Given the description of an element on the screen output the (x, y) to click on. 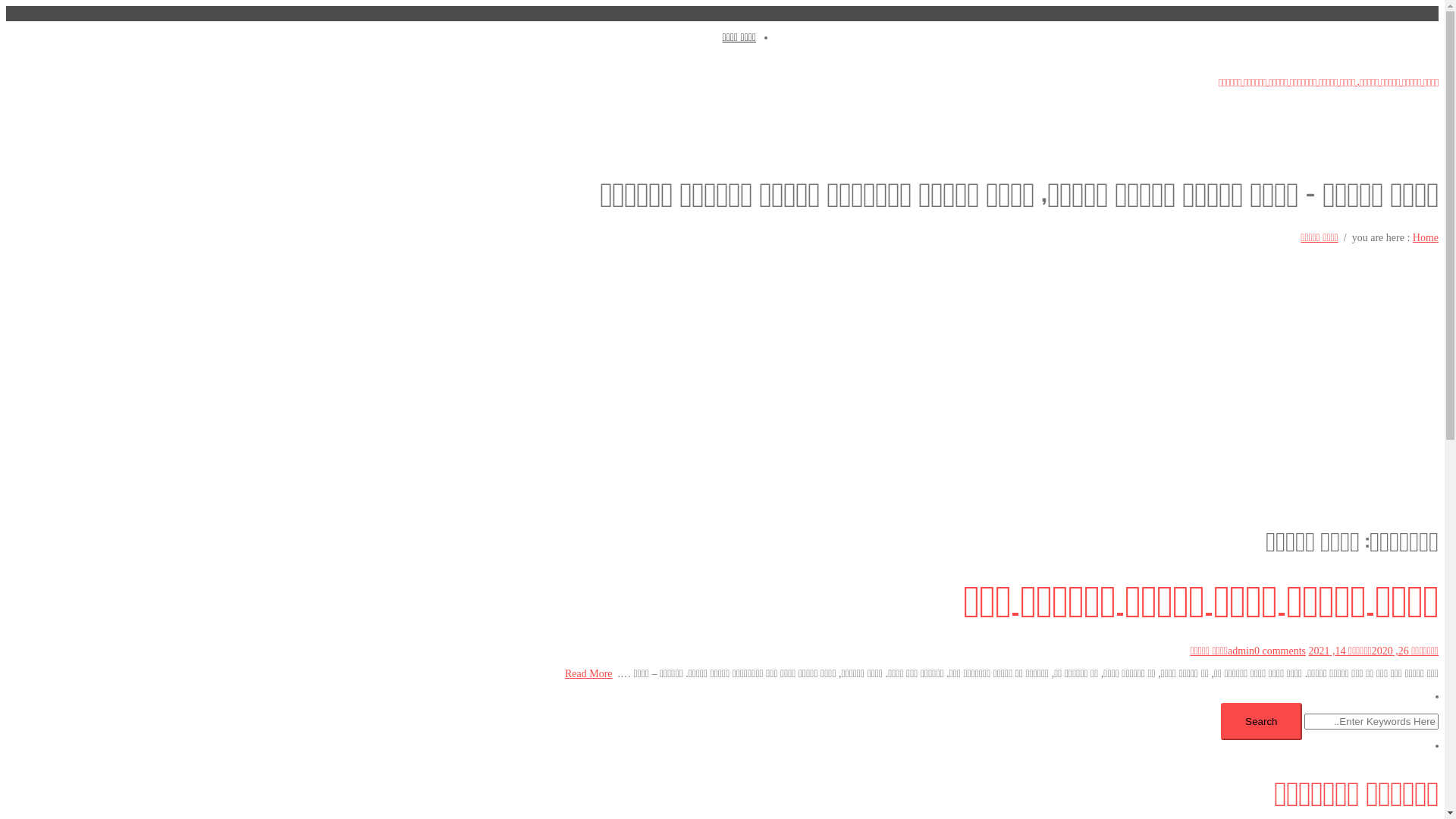
Read More Element type: text (588, 673)
0 comments Element type: text (1279, 650)
Search Element type: text (1260, 721)
Home Element type: text (1425, 237)
admin Element type: text (1240, 650)
